Given the description of an element on the screen output the (x, y) to click on. 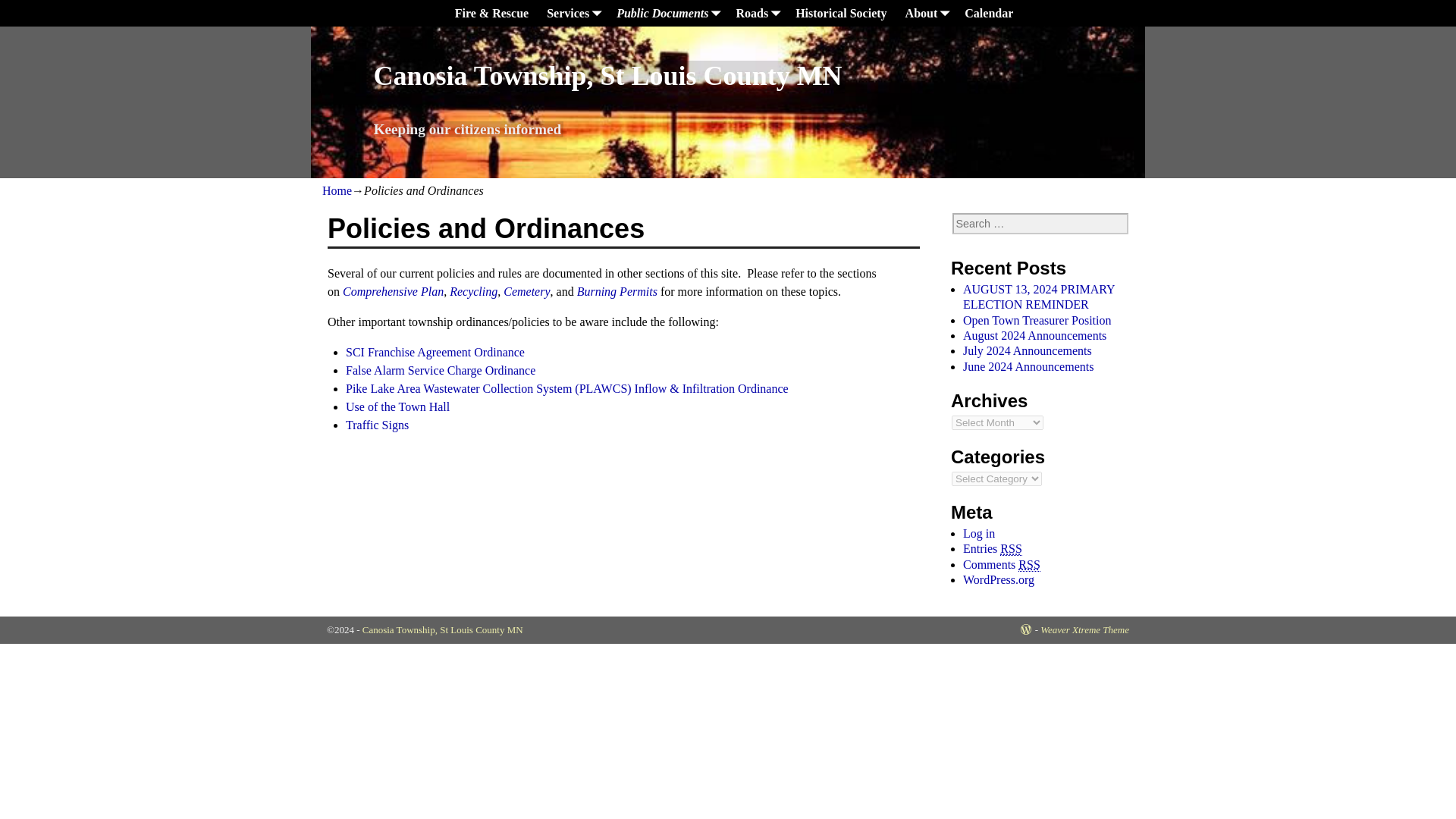
Canosia Township, St Louis County MN (607, 75)
Comprehensive Plan (393, 291)
Search (21, 7)
Really Simple Syndication (1028, 564)
Traffic Signs (377, 424)
Really Simple Syndication (1011, 549)
Public Documents (666, 13)
Canosia Township, St Louis County MN (607, 75)
Use of the Town Hall (397, 406)
Home (336, 190)
